Given the description of an element on the screen output the (x, y) to click on. 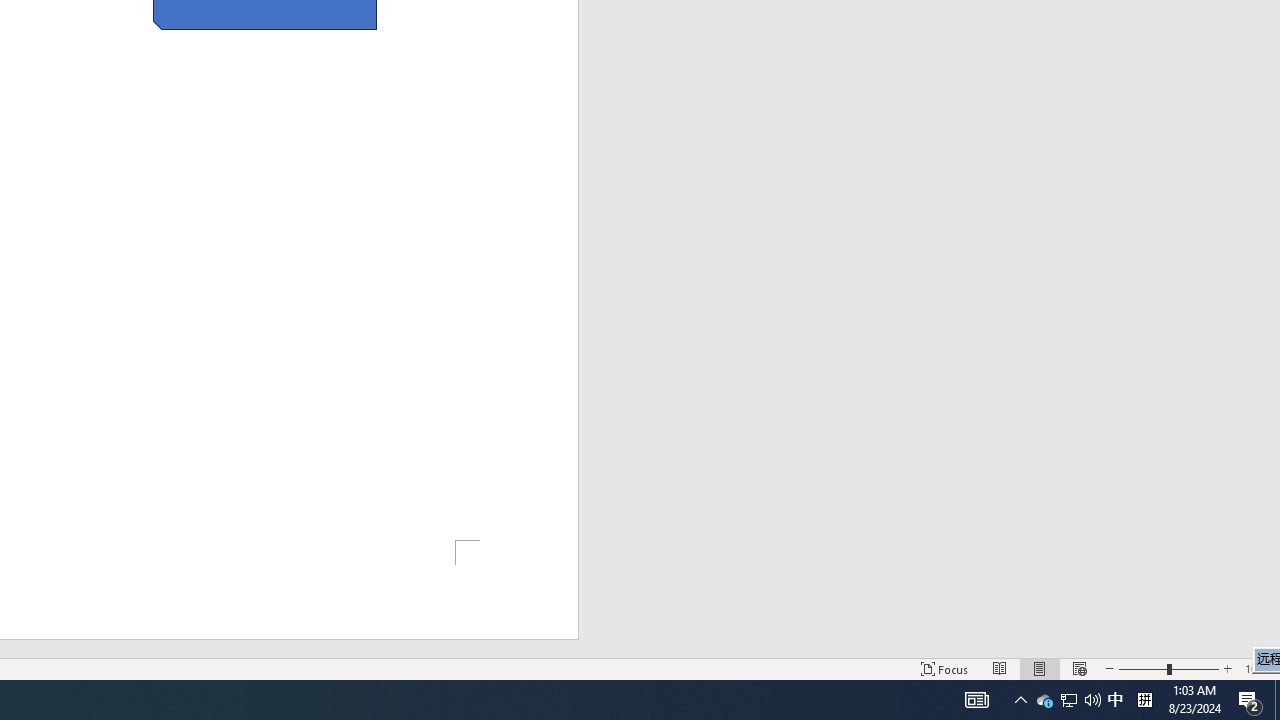
Zoom 104% (1258, 668)
